Given the description of an element on the screen output the (x, y) to click on. 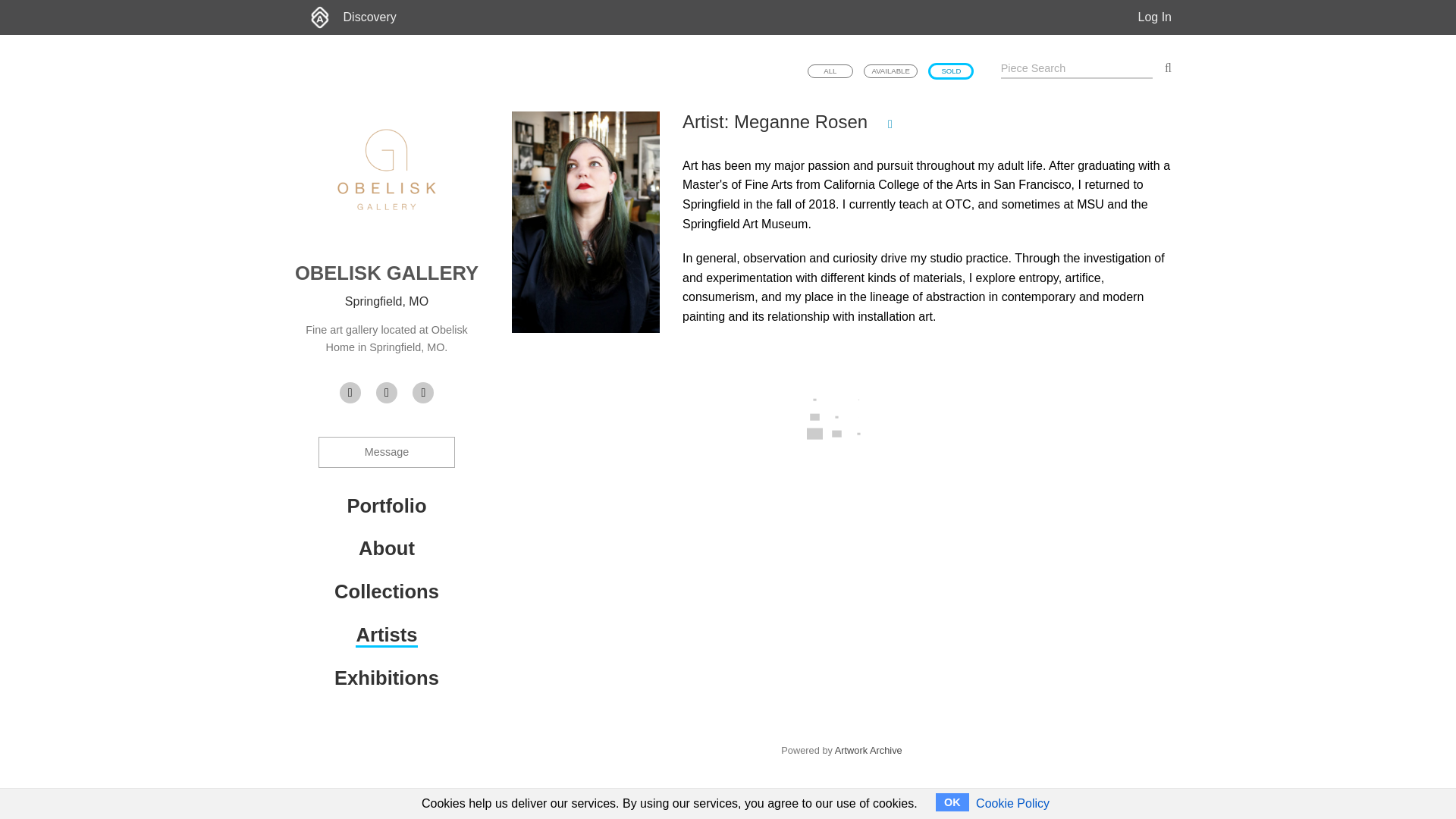
About (386, 547)
Website (350, 392)
Collections (386, 590)
AVAILABLE (890, 70)
Log In (1155, 16)
Portfolio (386, 504)
ALL (830, 70)
Discovery (369, 16)
OBELISK GALLERY (387, 272)
Artists (385, 635)
